Given the description of an element on the screen output the (x, y) to click on. 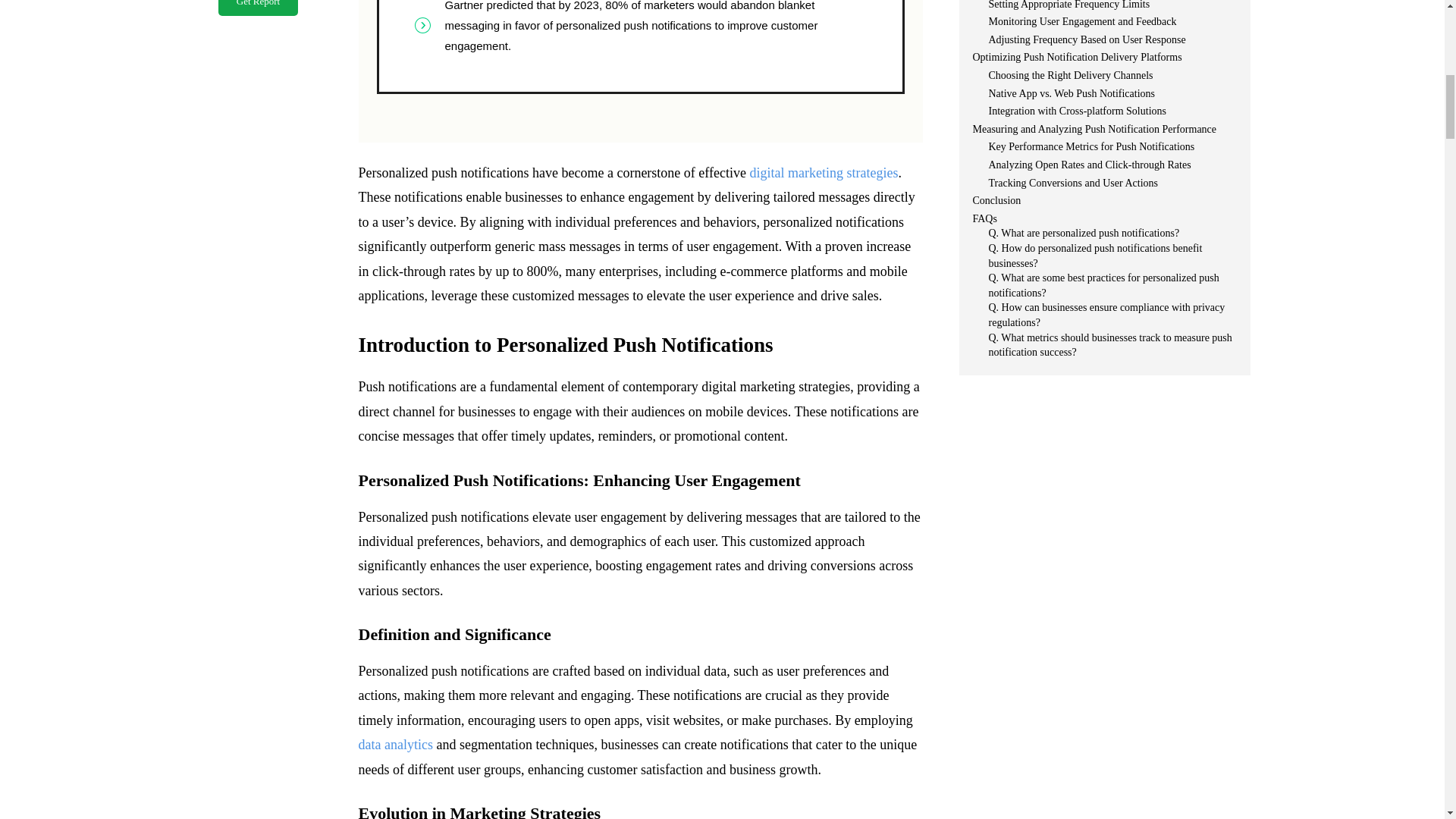
data analytics (395, 744)
digital marketing strategies (823, 172)
digital marketing strategies (823, 172)
Get Report (258, 7)
Get Report (258, 7)
